Given the description of an element on the screen output the (x, y) to click on. 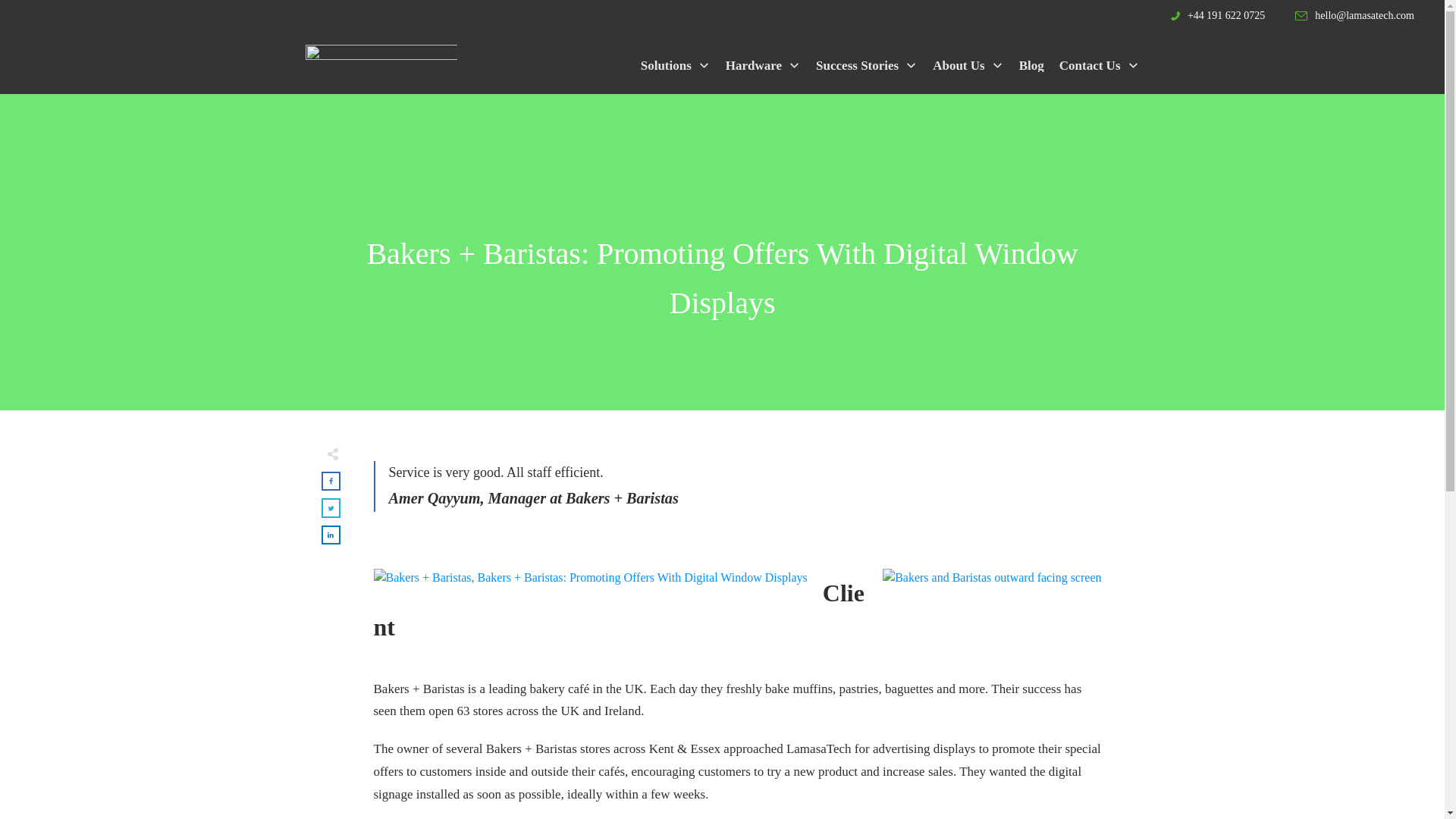
Hardware (762, 65)
Success Stories (866, 65)
Contact Us (1099, 65)
Blog (1031, 65)
Solutions (675, 65)
About Us (968, 65)
